Given the description of an element on the screen output the (x, y) to click on. 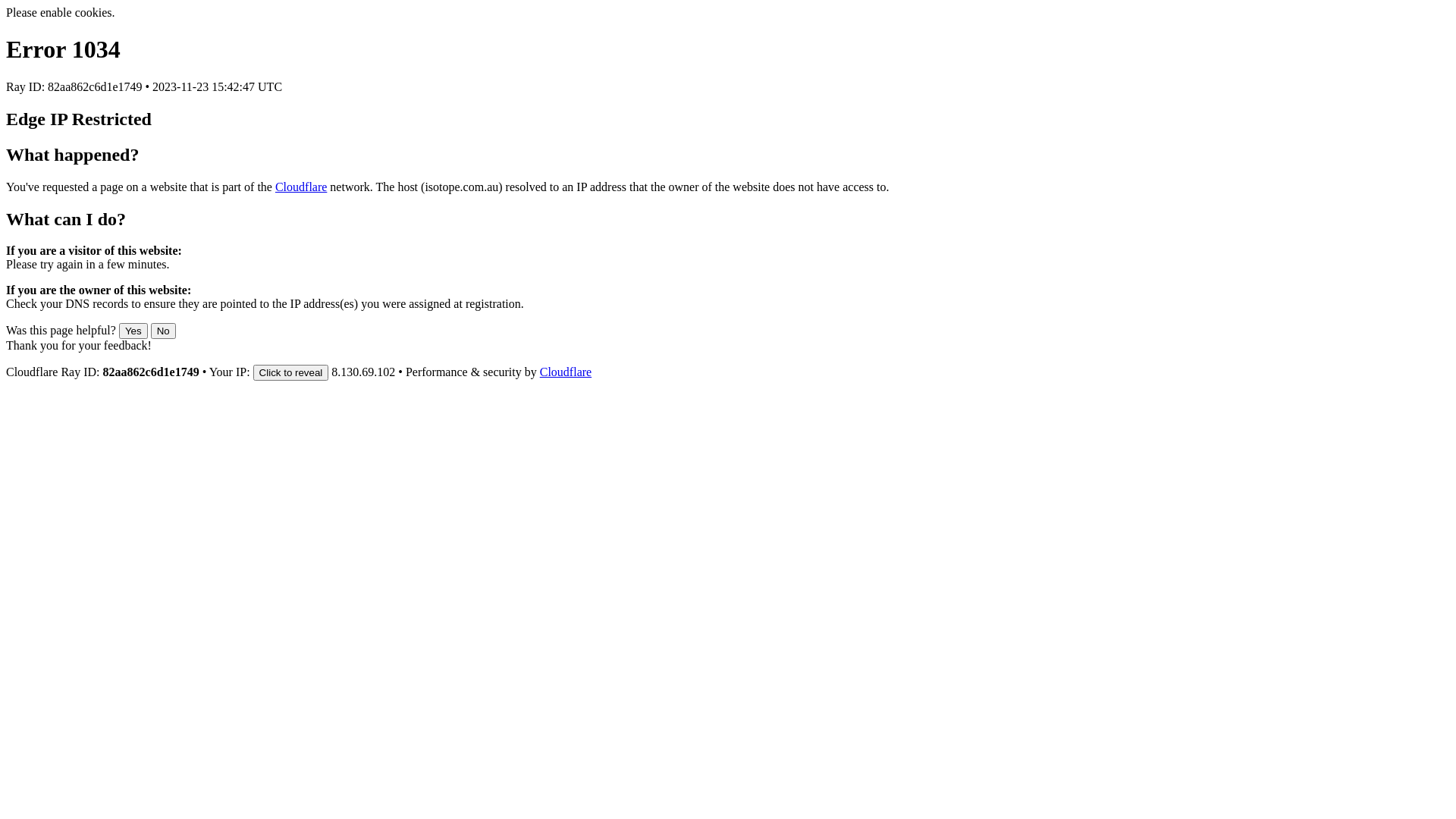
Yes Element type: text (133, 330)
No Element type: text (162, 330)
Click to reveal Element type: text (291, 372)
Cloudflare Element type: text (300, 186)
Cloudflare Element type: text (565, 371)
